Given the description of an element on the screen output the (x, y) to click on. 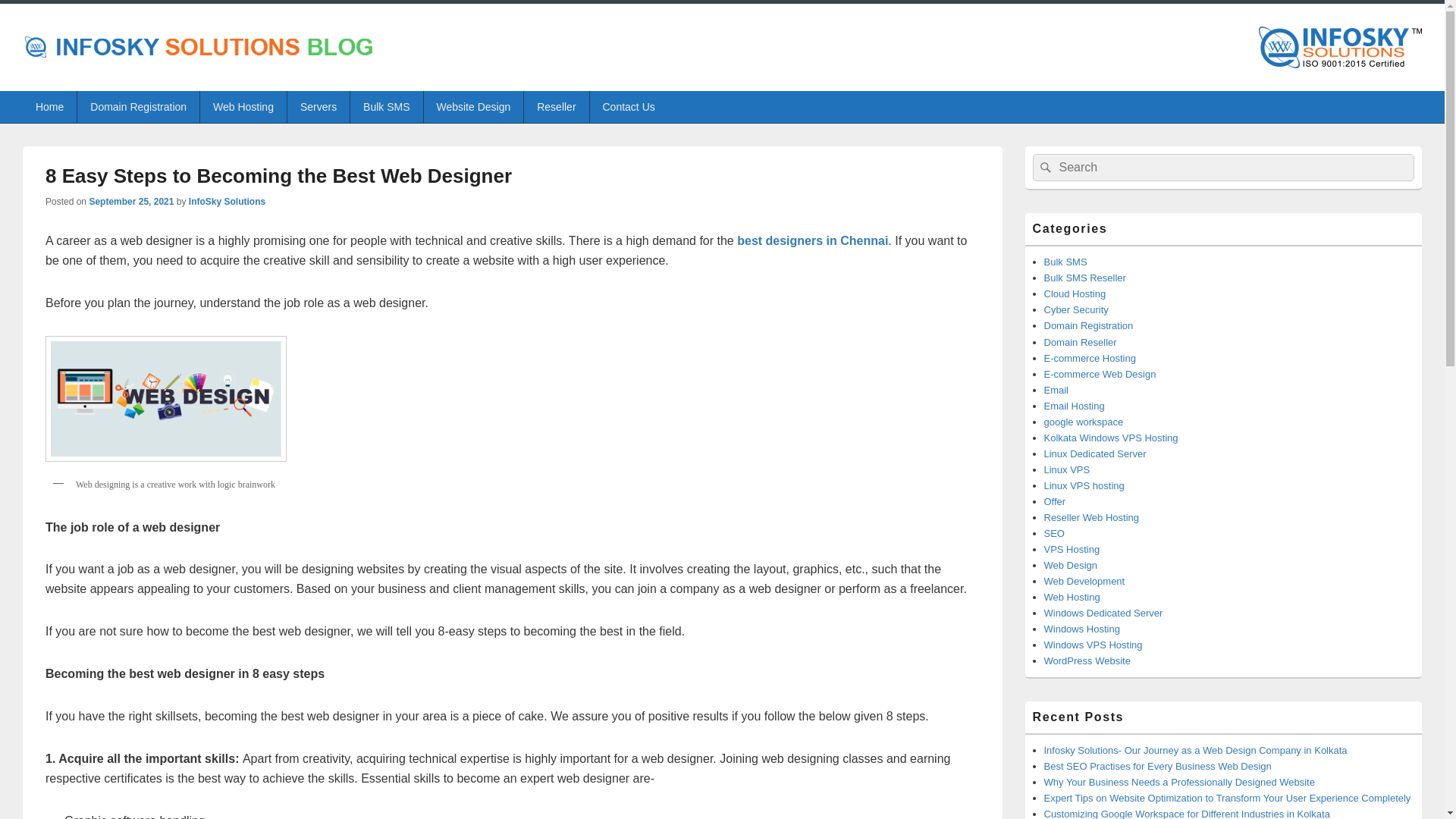
2:38 pm (130, 201)
Website Design (472, 106)
Bulk SMS (386, 106)
View all posts by InfoSky Solutions (226, 201)
Contact Us (628, 106)
Home (50, 106)
September 25, 2021 (130, 201)
Reseller (556, 106)
Servers (317, 106)
InfoSky Solutions (226, 201)
Search for: (1223, 166)
Domain Registration (138, 106)
Web Hosting (243, 106)
